Given the description of an element on the screen output the (x, y) to click on. 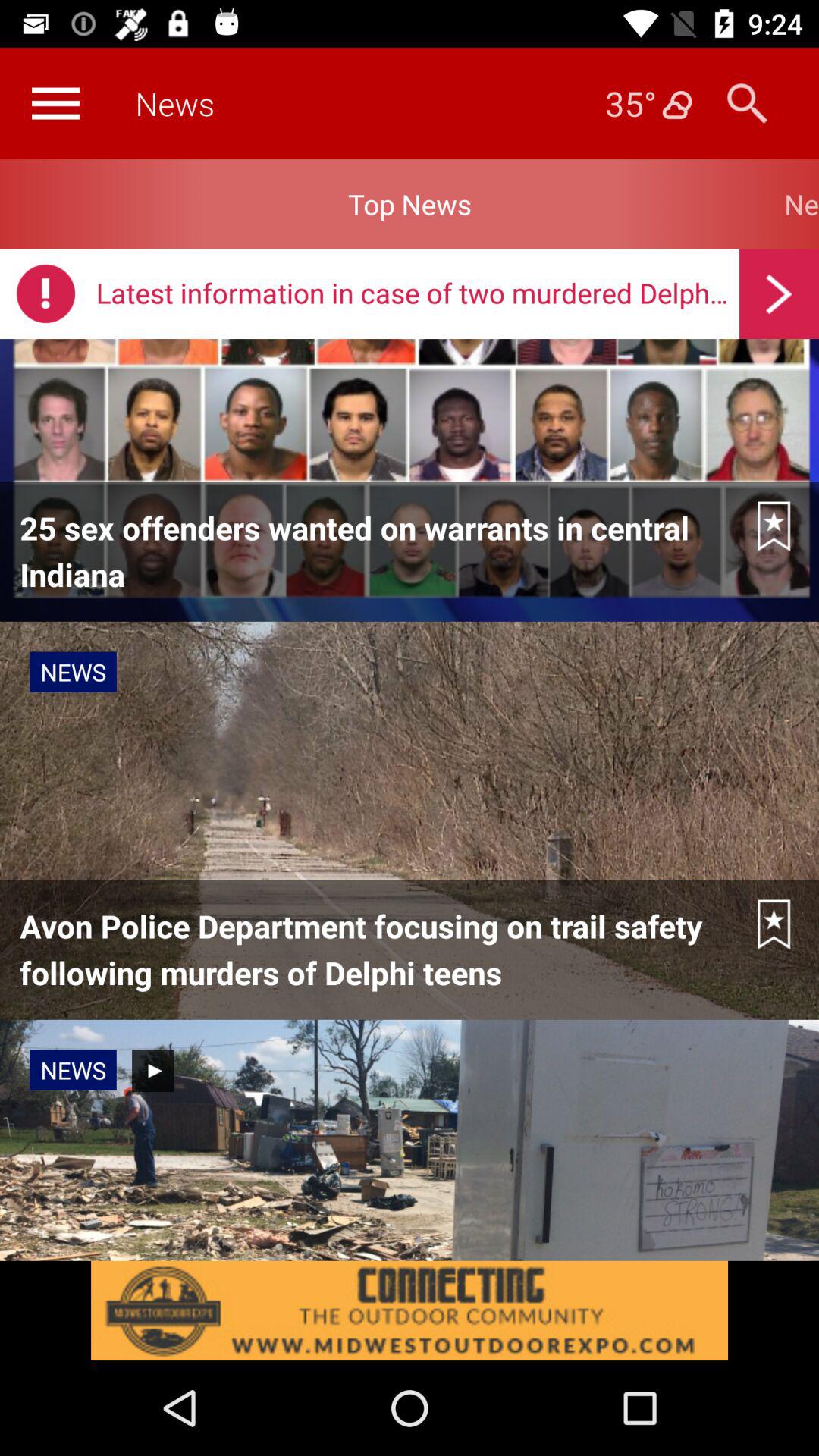
search (747, 103)
